Given the description of an element on the screen output the (x, y) to click on. 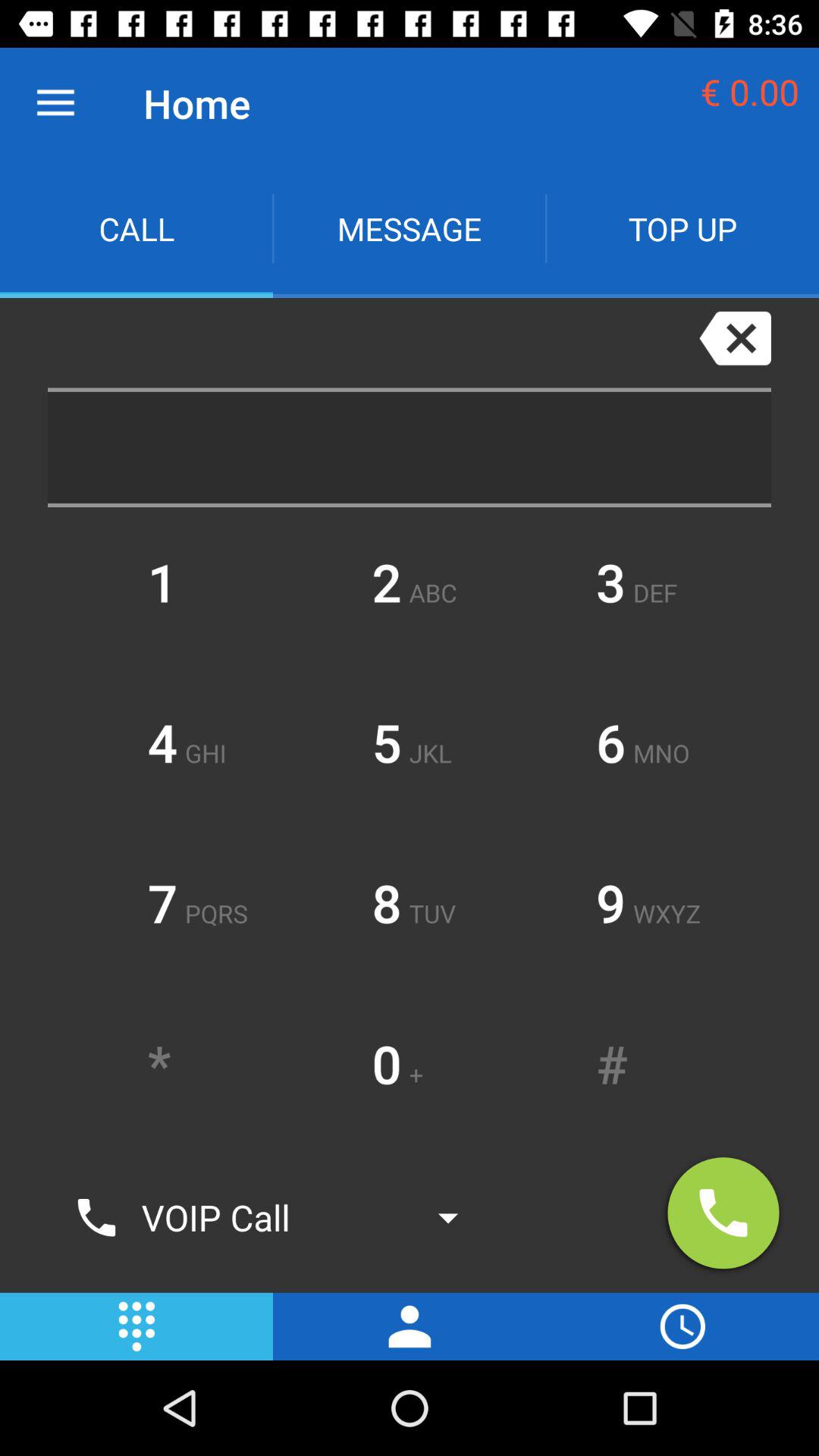
flip to message (409, 228)
